Given the description of an element on the screen output the (x, y) to click on. 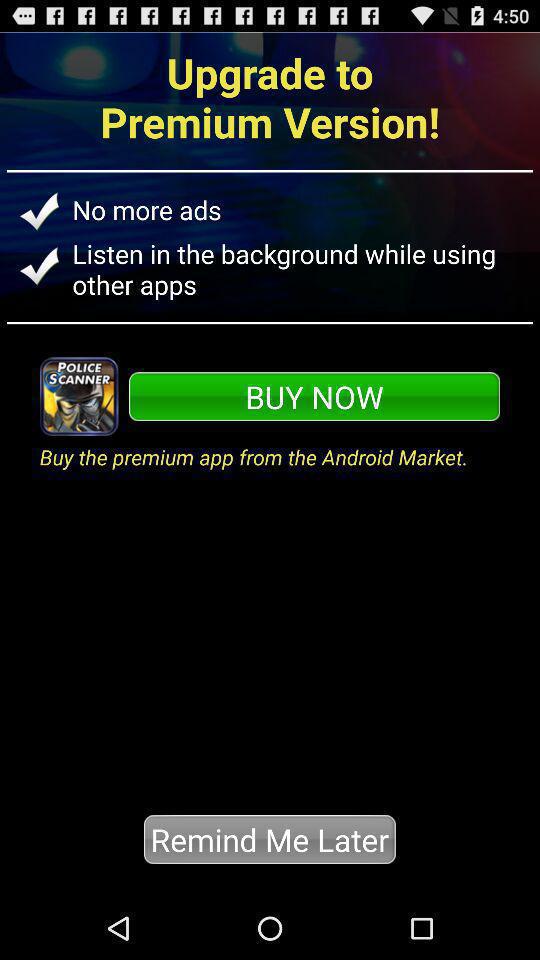
turn on remind me later item (269, 839)
